Given the description of an element on the screen output the (x, y) to click on. 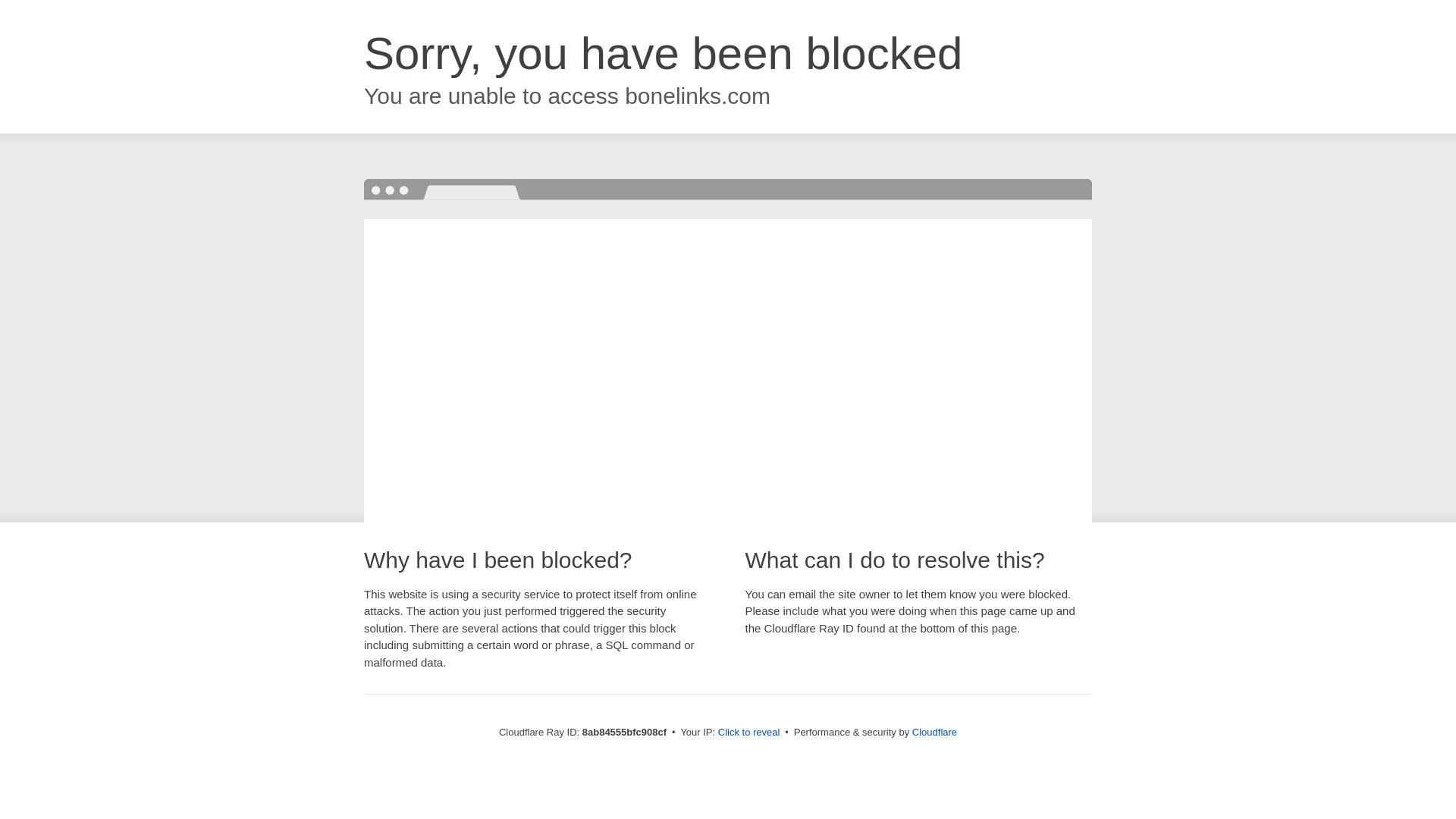
Click to reveal (748, 732)
Cloudflare (934, 731)
